Given the description of an element on the screen output the (x, y) to click on. 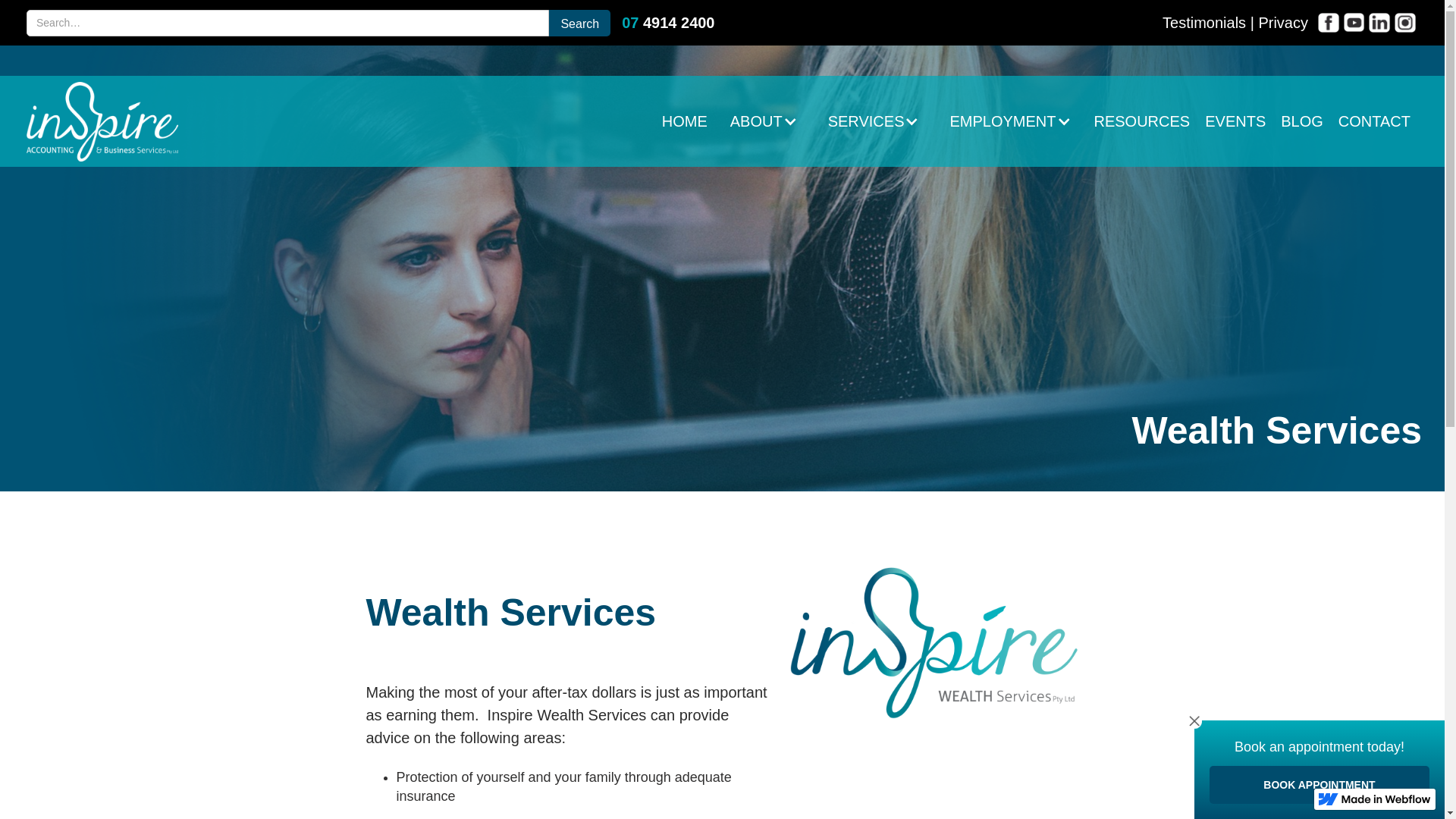
BOOK APPOINTMENT Element type: text (1319, 784)
Privacy Element type: text (1283, 22)
HOME Element type: text (684, 121)
Search Element type: text (579, 22)
EVENTS Element type: text (1235, 121)
Testimonials Element type: text (1203, 22)
RESOURCES Element type: text (1141, 121)
CONTACT Element type: text (1374, 121)
BLOG Element type: text (1301, 121)
